Given the description of an element on the screen output the (x, y) to click on. 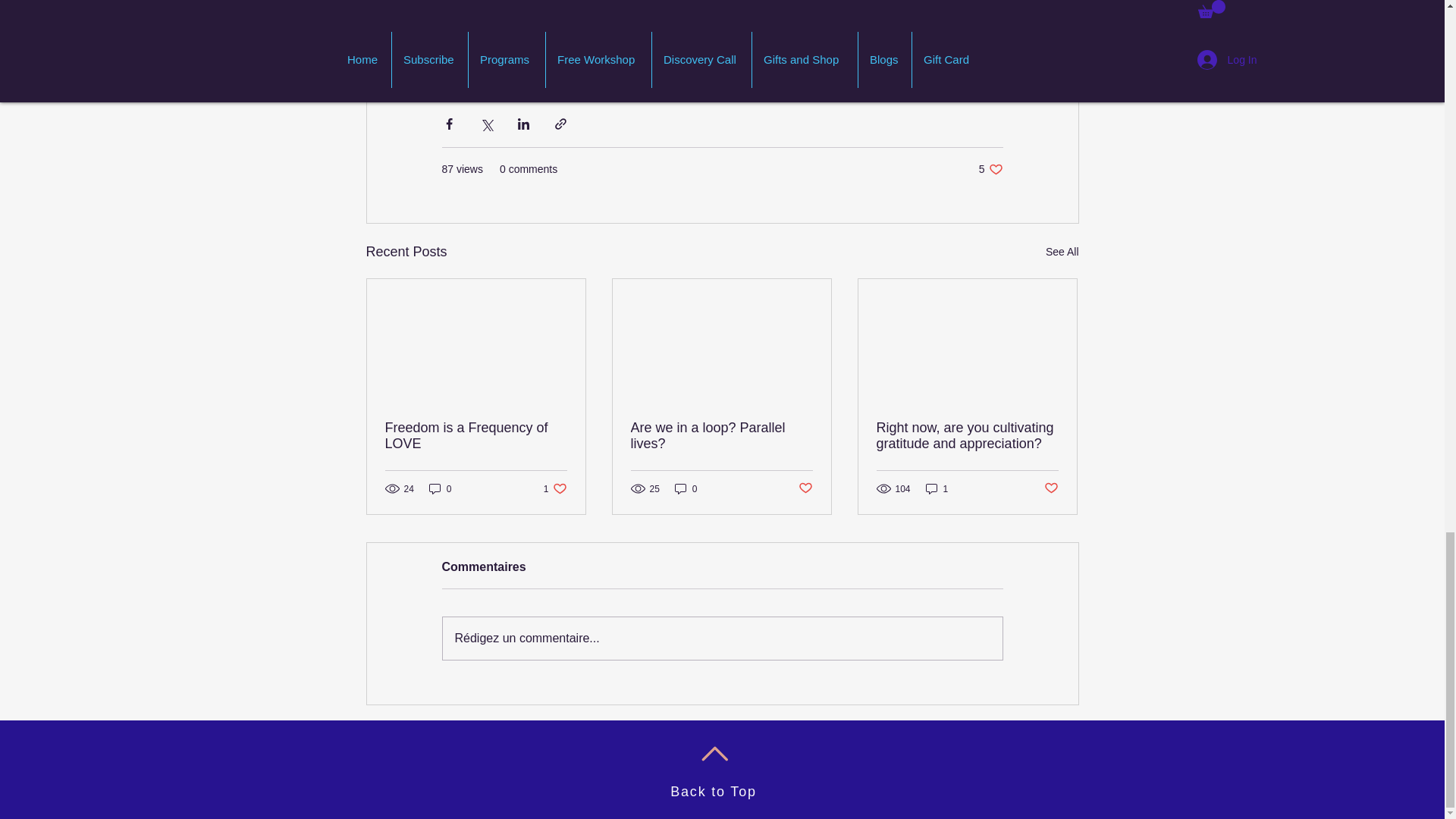
Are we in a loop? Parallel lives? (990, 169)
Back to Top (721, 436)
Freedom is a Frequency of LOVE (555, 488)
Right now, are you cultivating gratitude and appreciation? (713, 791)
1 (476, 436)
Post not marked as liked (967, 436)
0 (937, 488)
Post not marked as liked (804, 488)
0 (685, 488)
See All (1050, 488)
